Given the description of an element on the screen output the (x, y) to click on. 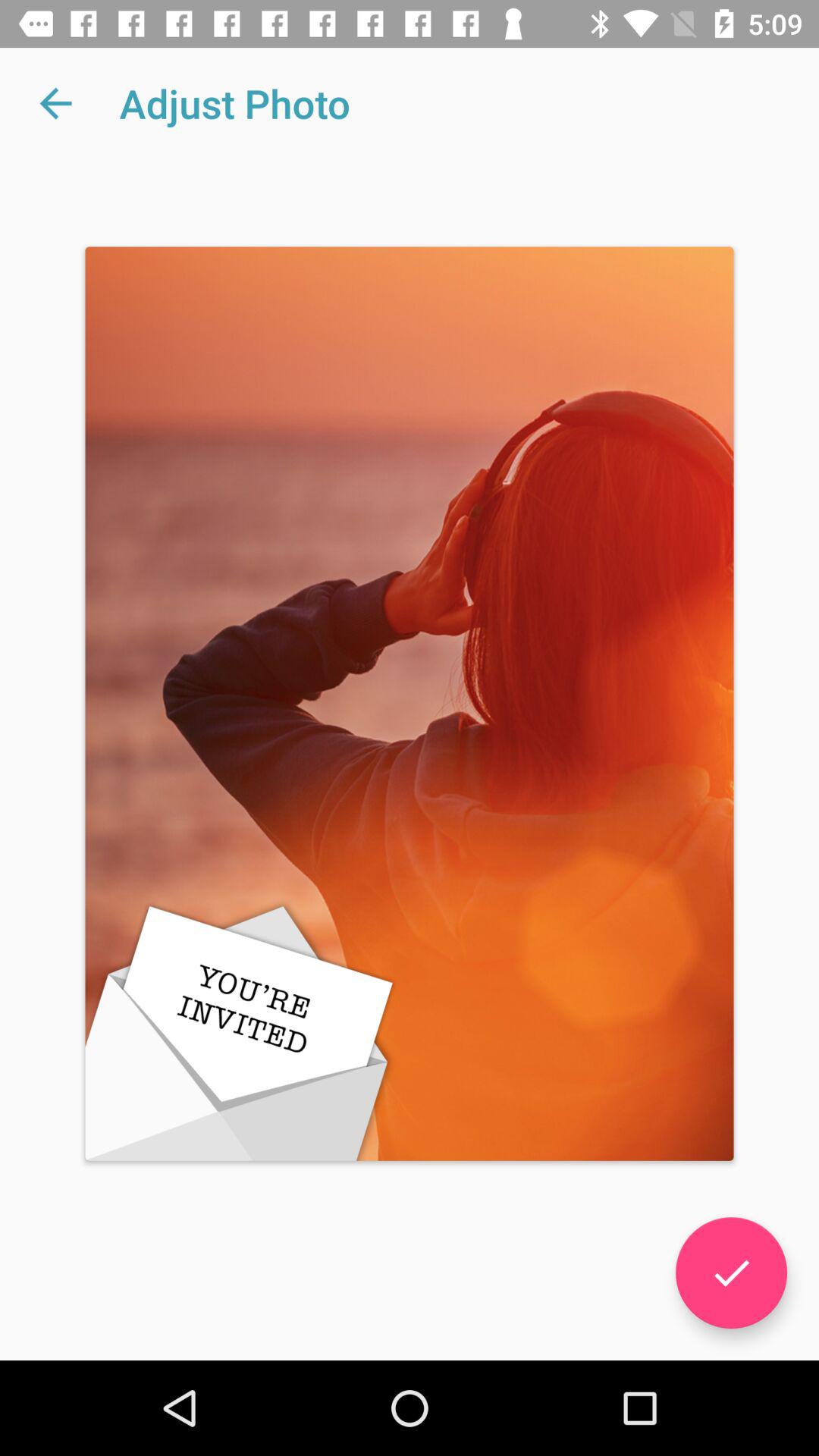
turn on item to the left of adjust photo item (55, 103)
